Given the description of an element on the screen output the (x, y) to click on. 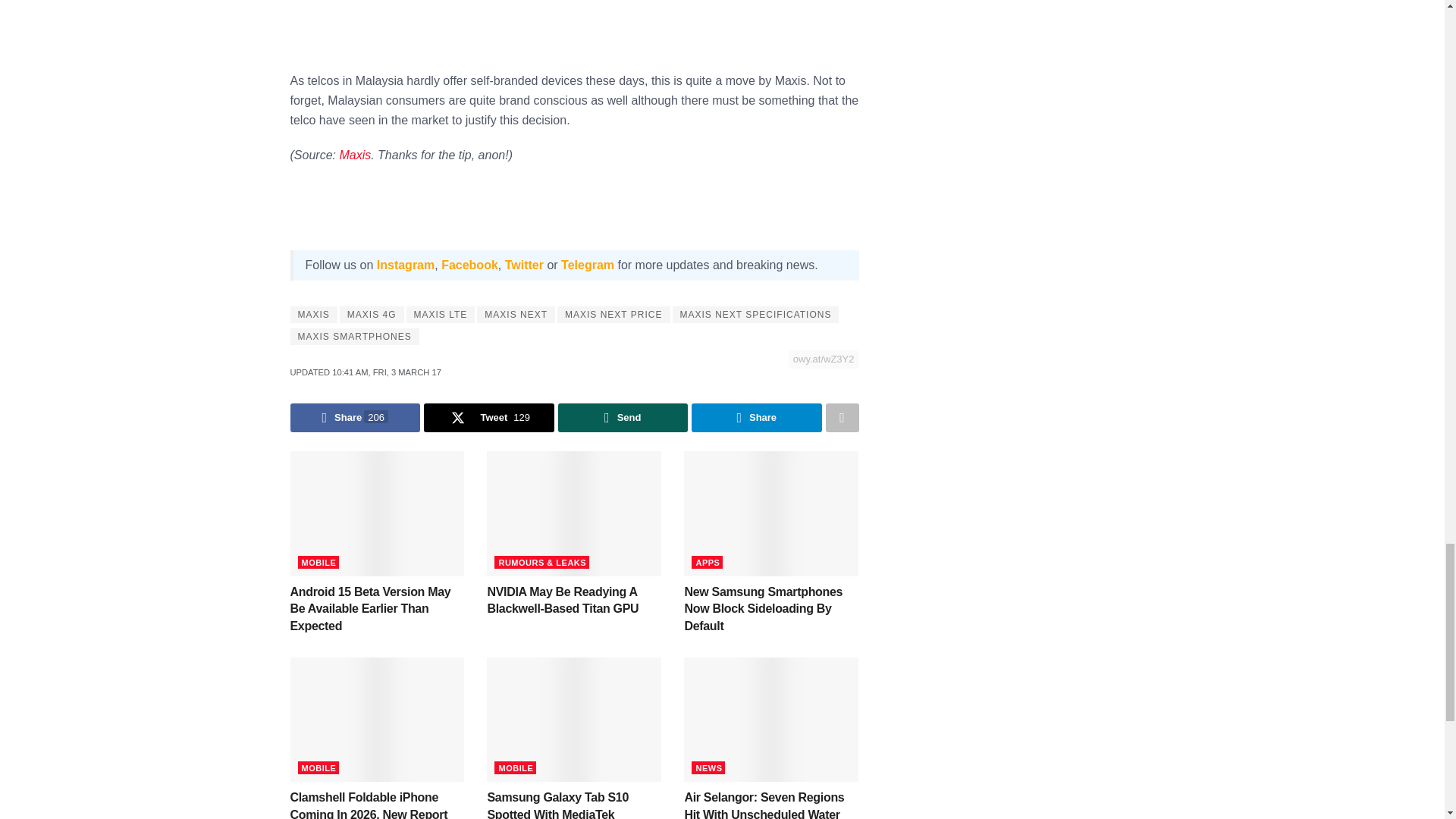
NVIDIA May Be Readying A Blackwell-Based Titan GPU 6 (573, 513)
New Samsung Smartphones Now Block Sideloading By Default 7 (771, 513)
